Given the description of an element on the screen output the (x, y) to click on. 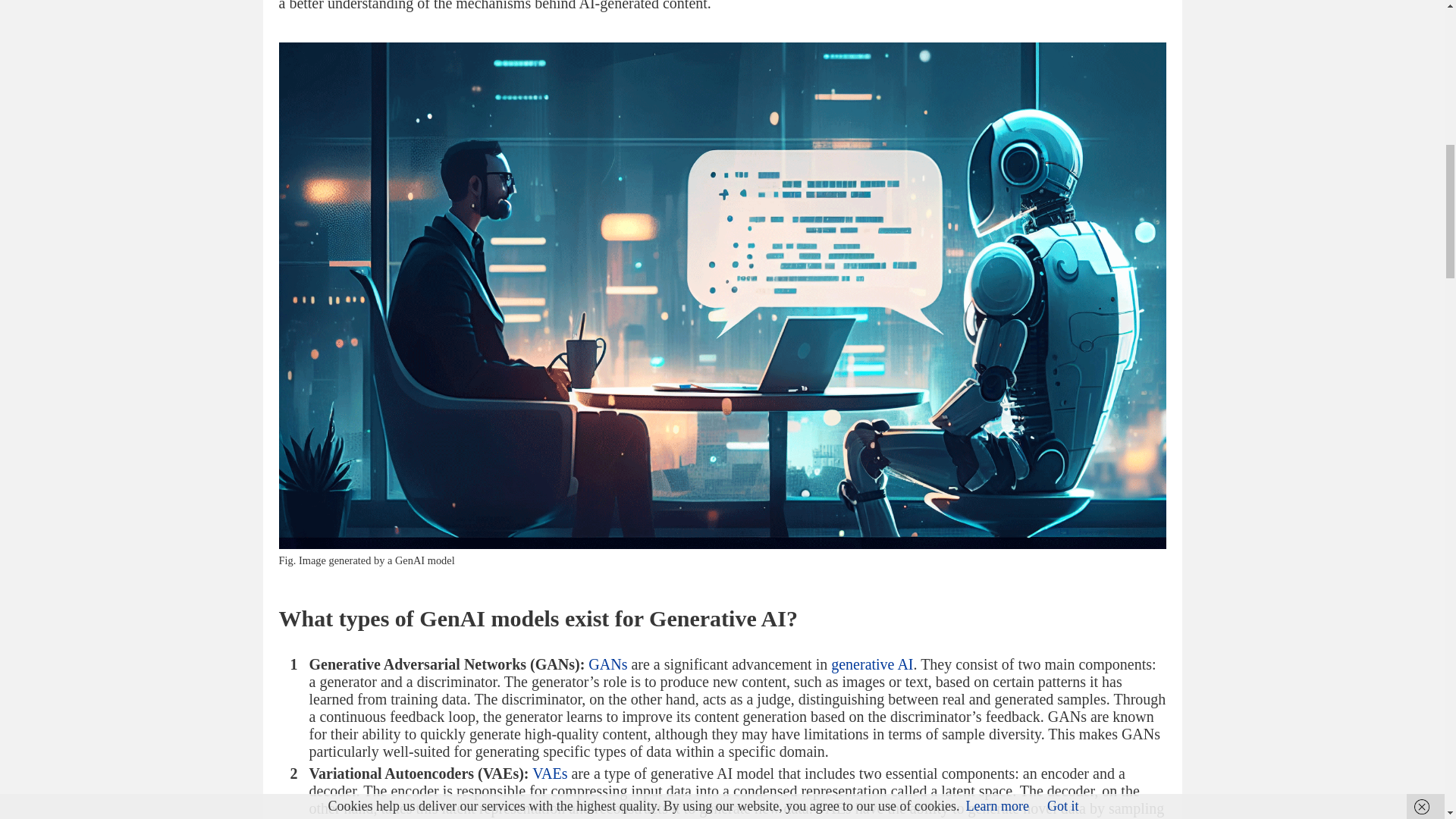
VAEs (549, 773)
GANs (607, 664)
generative AI (871, 664)
